Given the description of an element on the screen output the (x, y) to click on. 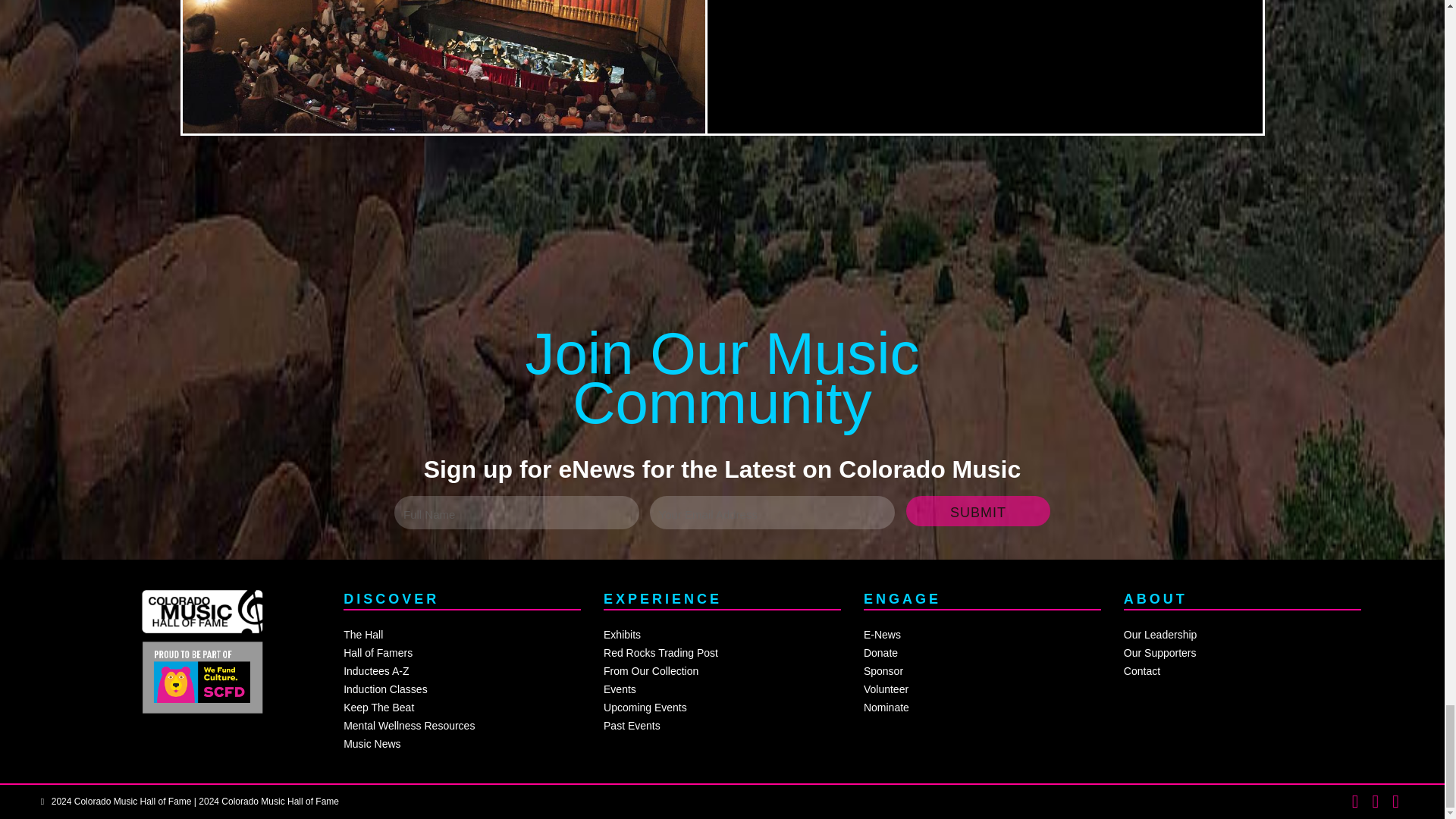
Submit (977, 511)
